Given the description of an element on the screen output the (x, y) to click on. 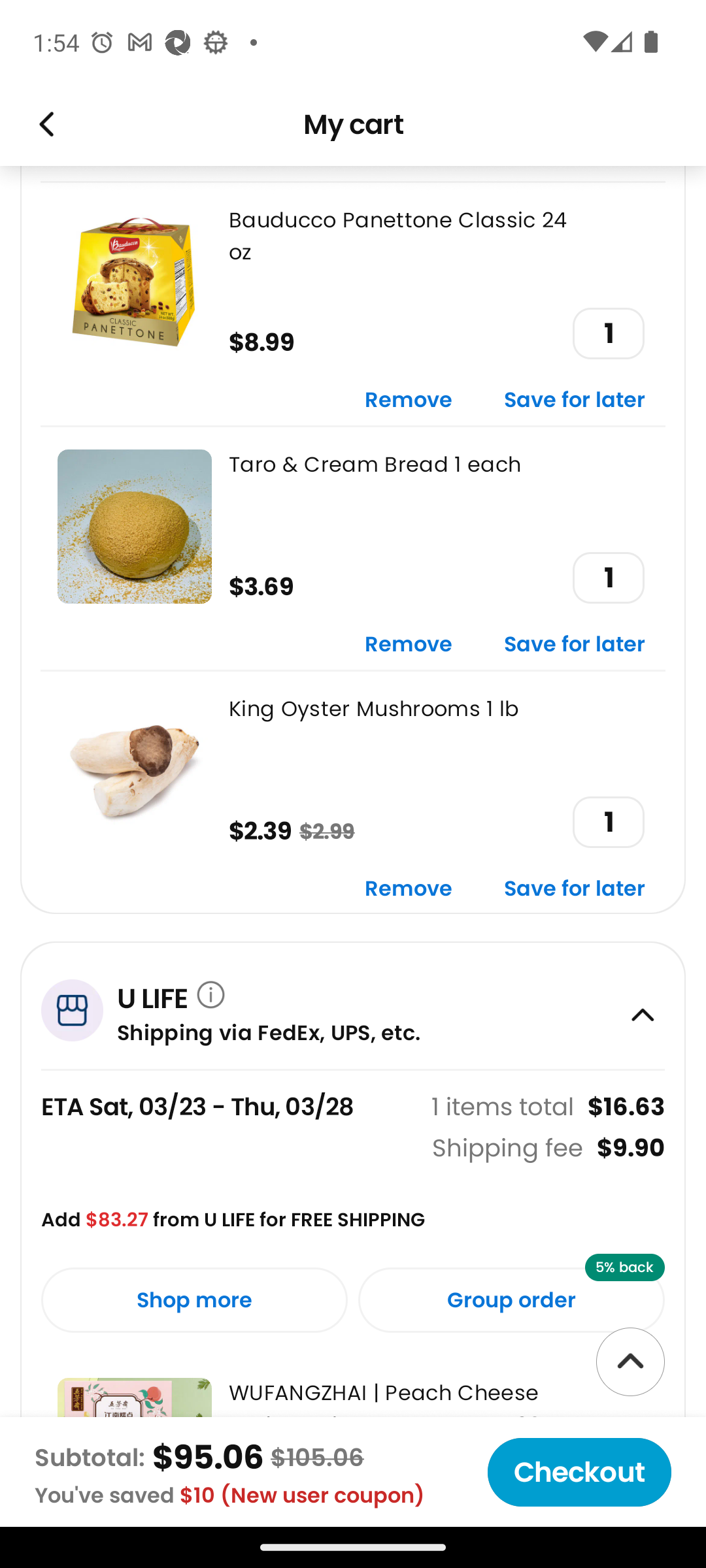
1 (608, 333)
Remove (408, 400)
Save for later (574, 400)
1 (608, 577)
Remove (408, 644)
Save for later (574, 644)
1 (608, 822)
Remove (408, 889)
Save for later (574, 889)
U LIFE Shipping via FedEx, UPS, etc. (352, 1004)
Shop more (194, 1299)
Group order (511, 1299)
Checkout (579, 1471)
